Given the description of an element on the screen output the (x, y) to click on. 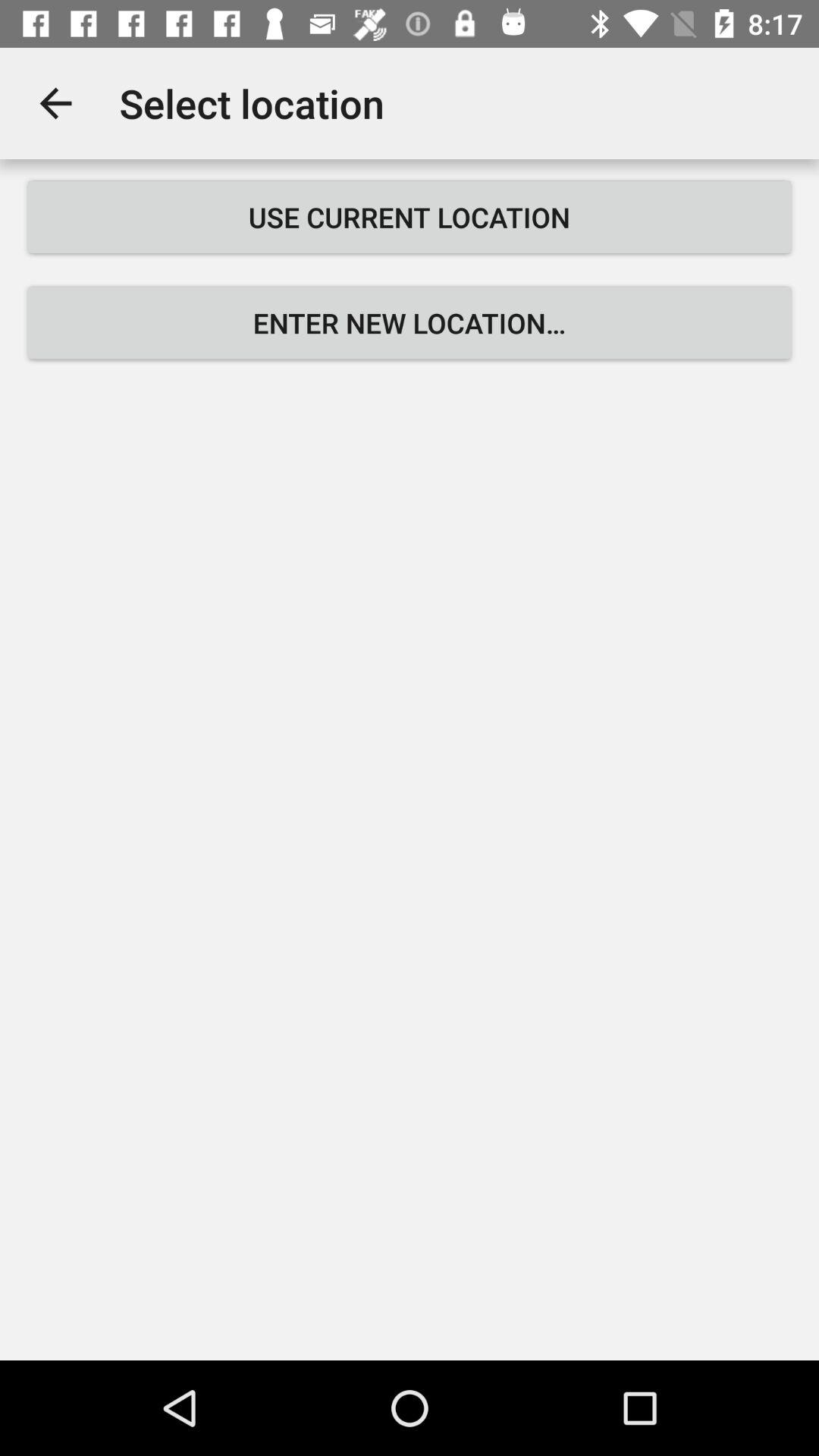
select app next to select location icon (55, 103)
